Given the description of an element on the screen output the (x, y) to click on. 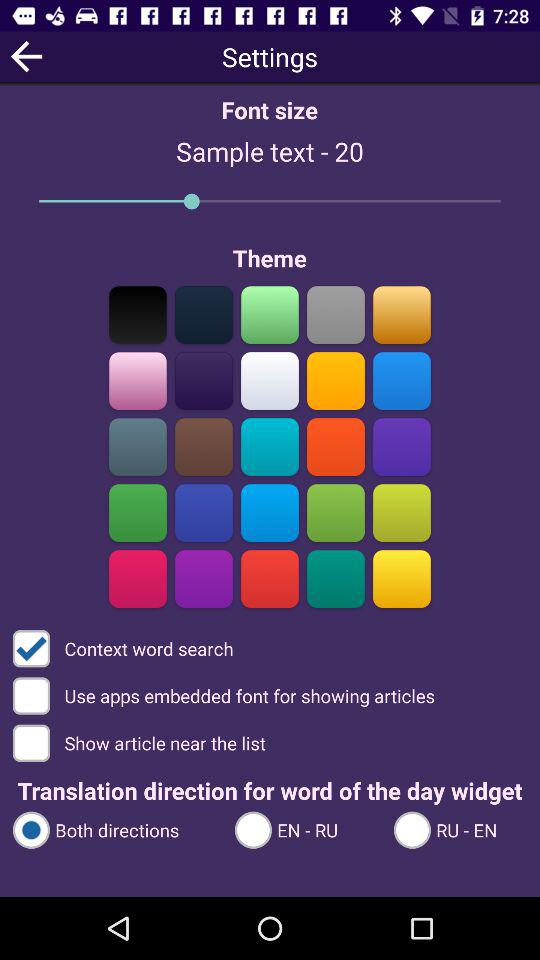
select color (137, 314)
